Given the description of an element on the screen output the (x, y) to click on. 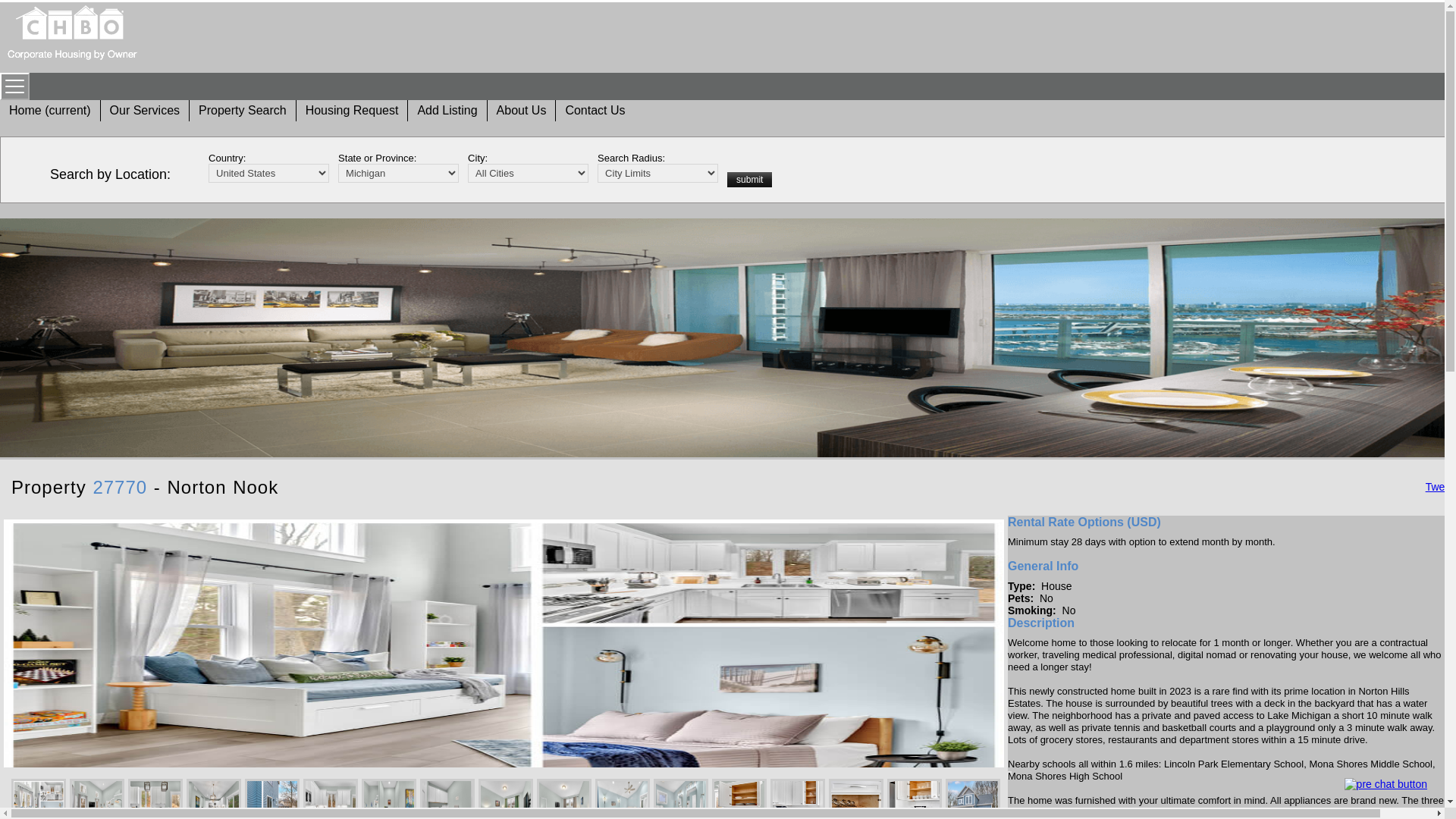
Add Listing (446, 110)
Property Search (242, 110)
Contact Us (594, 110)
About Us (521, 110)
Our Services (144, 110)
Housing Request (351, 110)
submit (748, 179)
submit (748, 179)
Tweet (1439, 486)
